Given the description of an element on the screen output the (x, y) to click on. 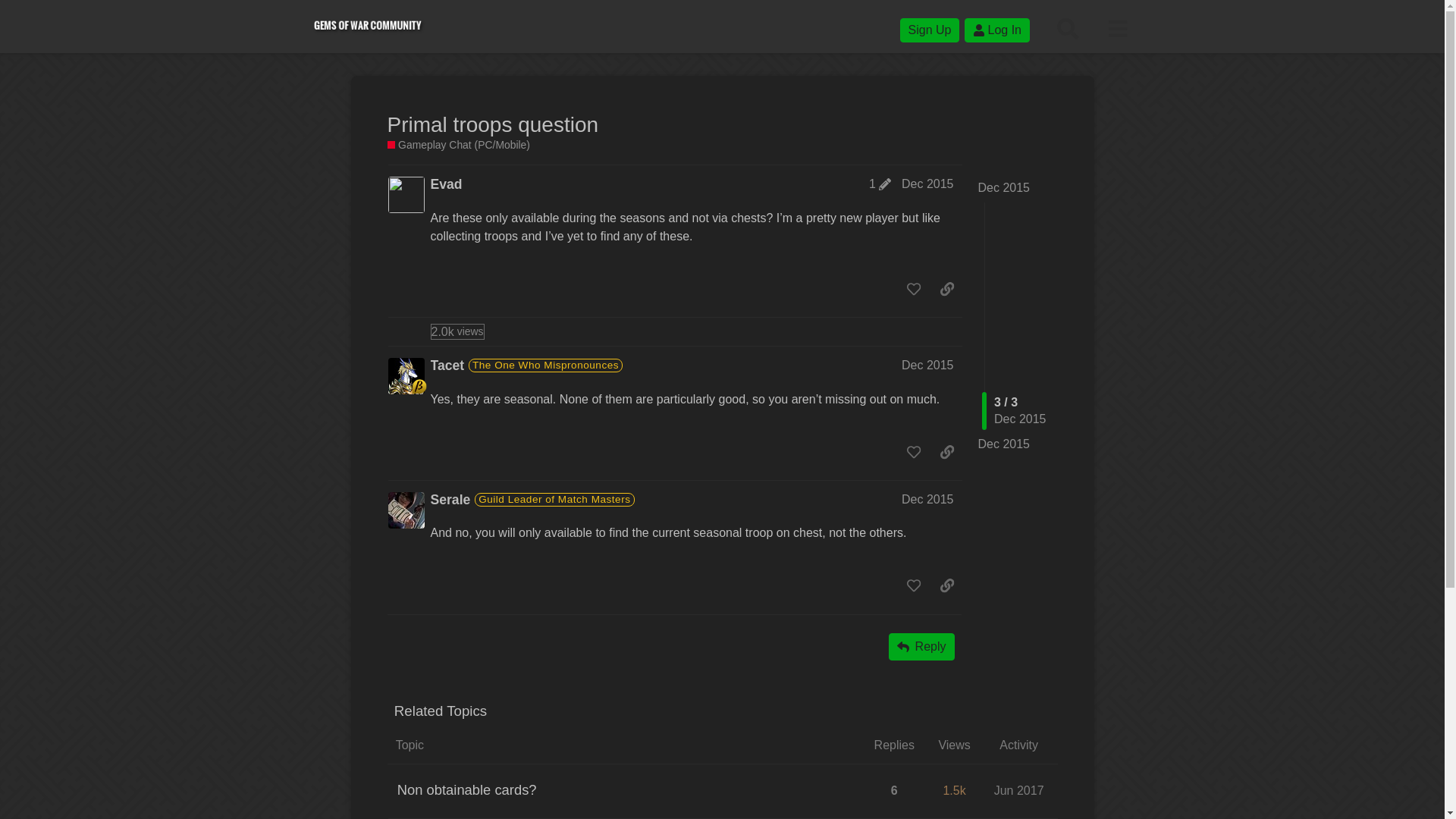
like this post (913, 451)
Jump to the first post (1004, 187)
Jun 2017 (1019, 790)
post last edited on Dec 29, 2015 7:24 am (879, 183)
Jump to the last post (1004, 443)
Non obtainable cards? (467, 789)
1 (879, 183)
Post date (927, 183)
Search (1067, 28)
Sign Up (929, 30)
